Given the description of an element on the screen output the (x, y) to click on. 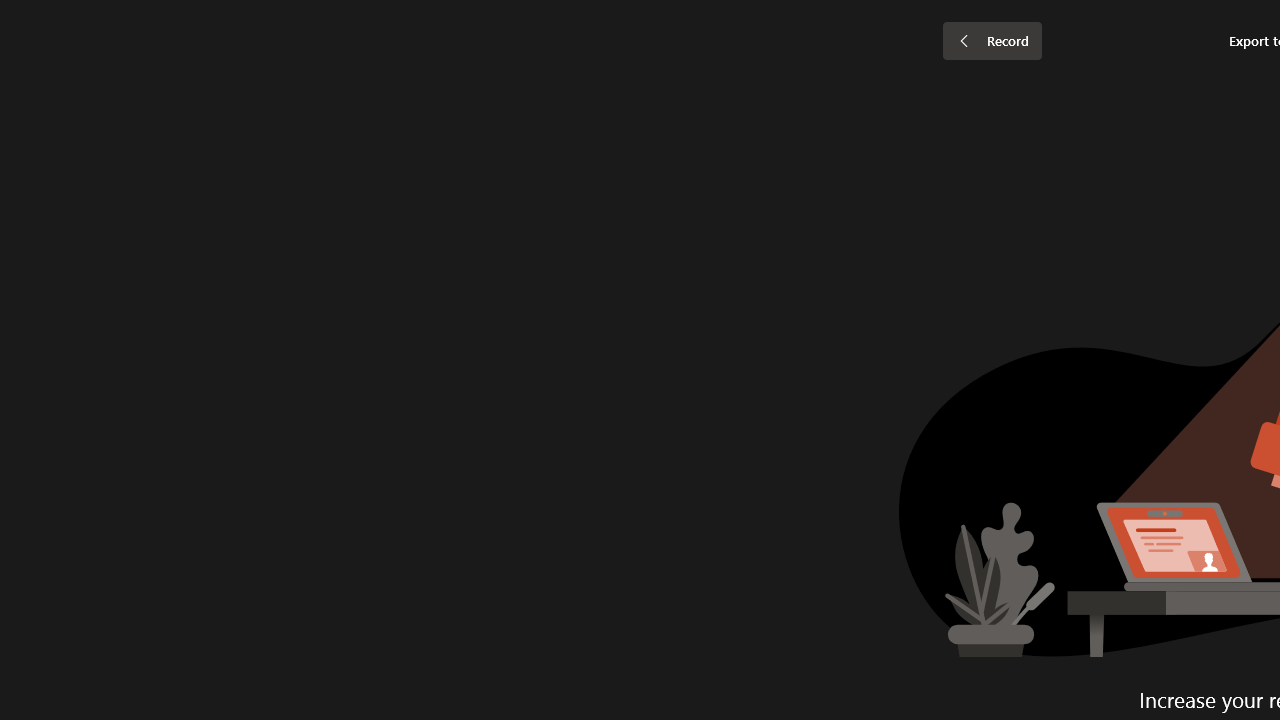
From Beginning... (158, 102)
Clear Recording (412, 102)
Learn More (646, 102)
Preview (30, 102)
Screen Recording (290, 102)
